Given the description of an element on the screen output the (x, y) to click on. 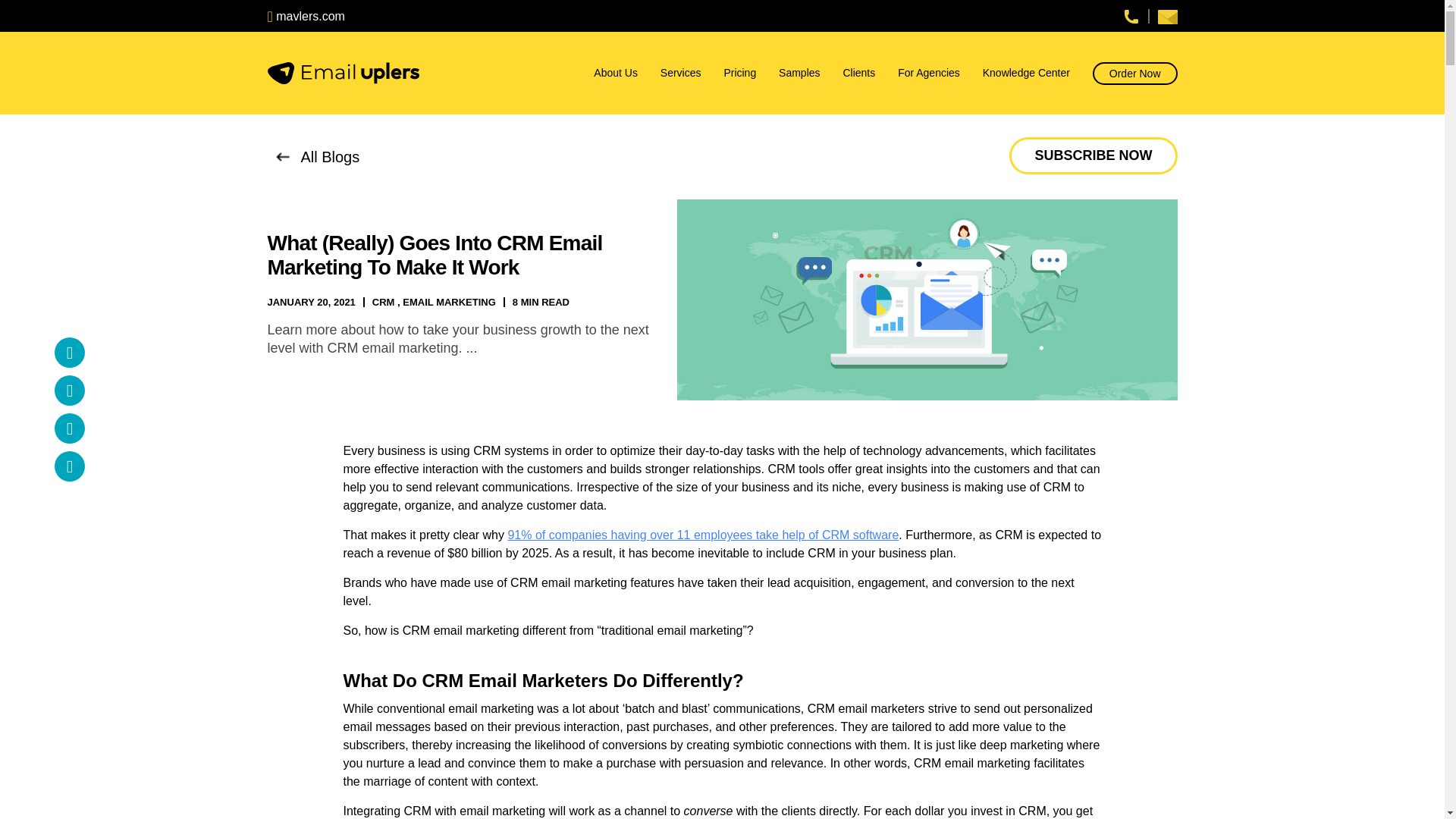
Pricing (742, 73)
Call Us (1131, 15)
Uplers (304, 15)
Email Uplers (342, 73)
Services (684, 73)
About Us (618, 73)
mavlers.com (304, 15)
Services (684, 73)
About Us (618, 73)
Email Us (1166, 15)
